Given the description of an element on the screen output the (x, y) to click on. 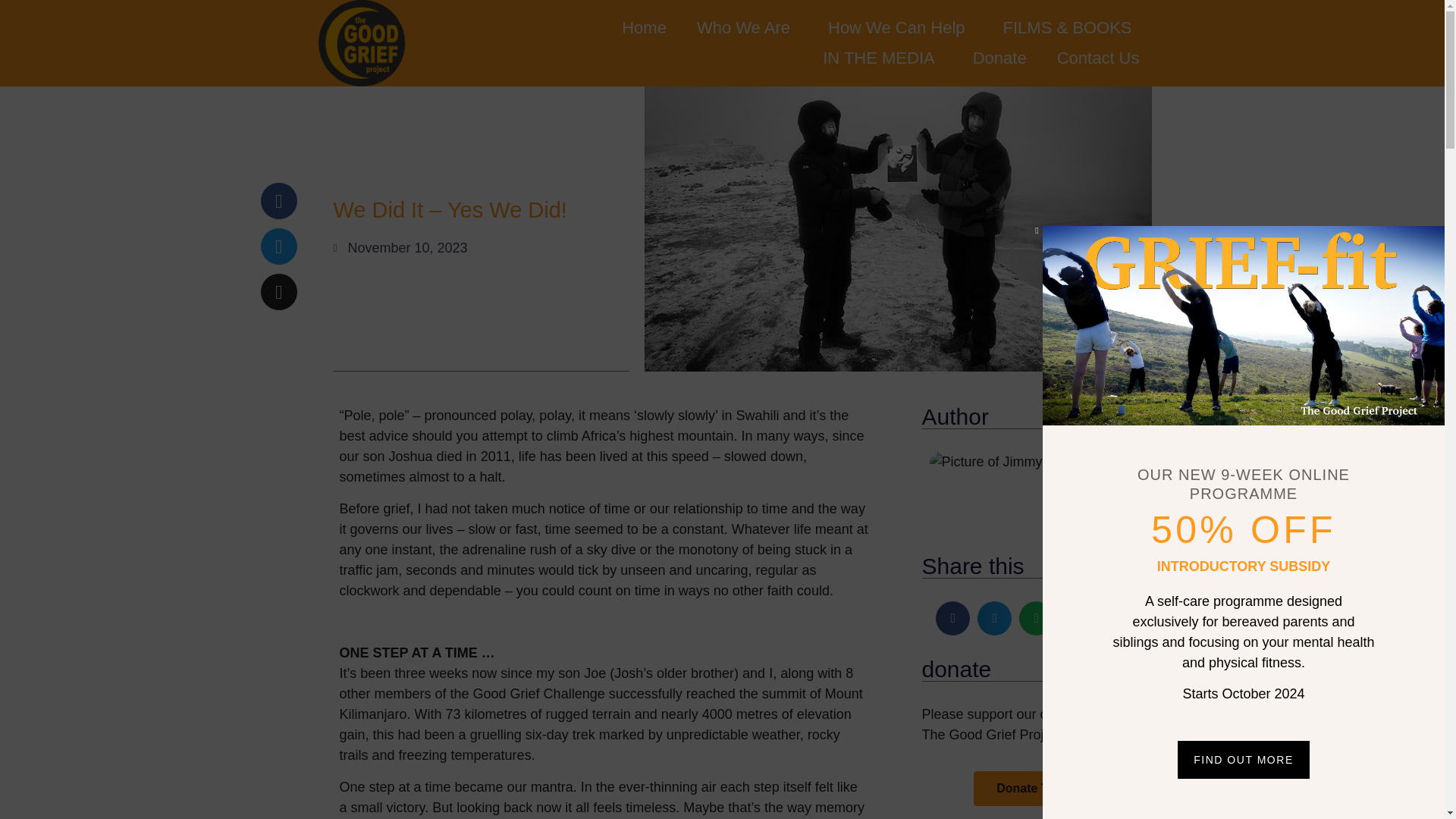
Contact Us (1098, 58)
Who We Are (746, 28)
IN THE MEDIA (883, 58)
Home (644, 28)
Donate (1000, 58)
How We Can Help (900, 28)
